Given the description of an element on the screen output the (x, y) to click on. 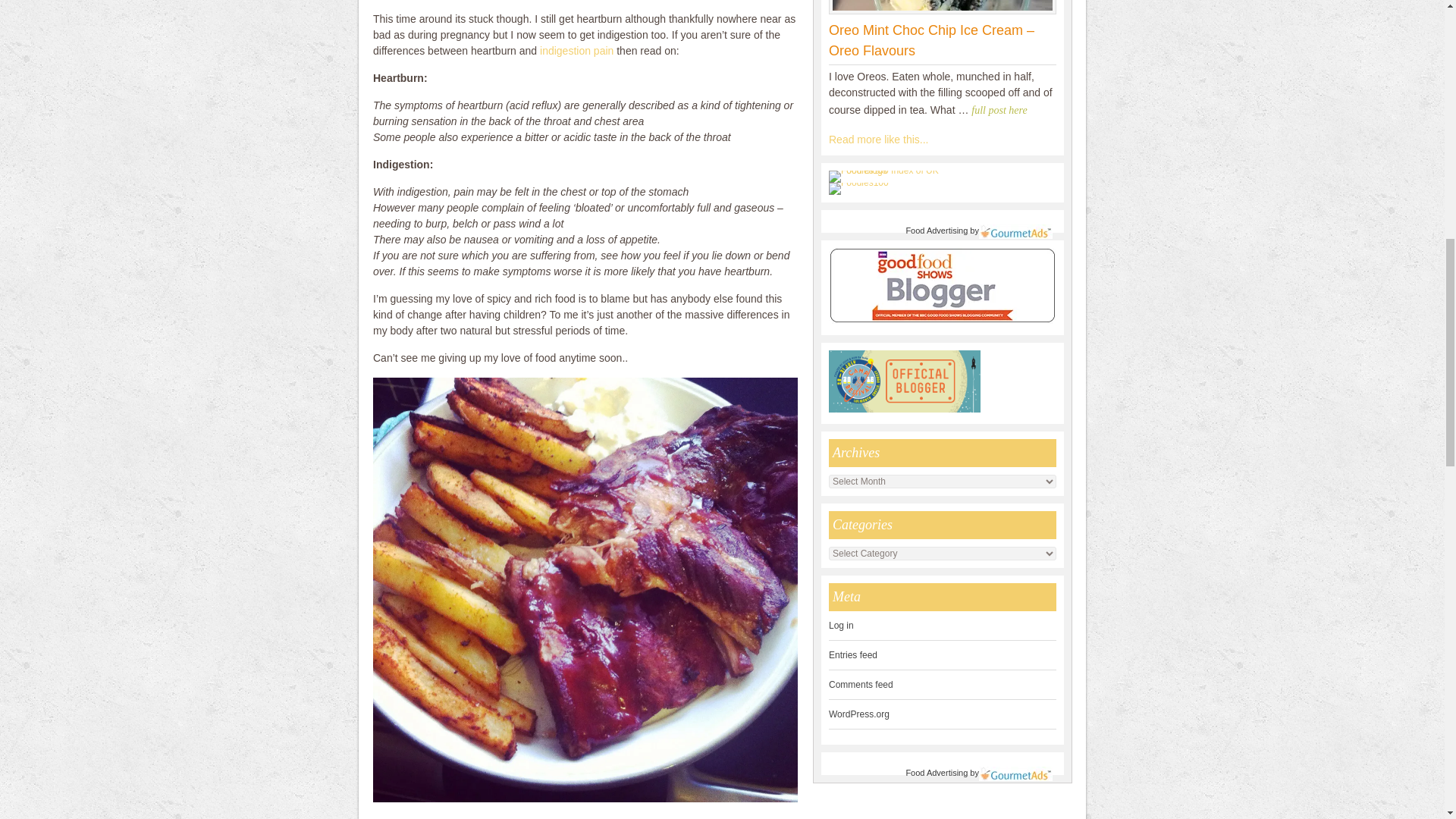
Foodies100 (858, 182)
Foodies100 Index of UK Food Blogs (890, 170)
Foodies100 Index of UK Food Blogs (890, 176)
Recipe Development (878, 139)
Food Advertising (936, 230)
Food Advertising (936, 772)
Foodies100 (858, 188)
indigestion pain (576, 50)
